Given the description of an element on the screen output the (x, y) to click on. 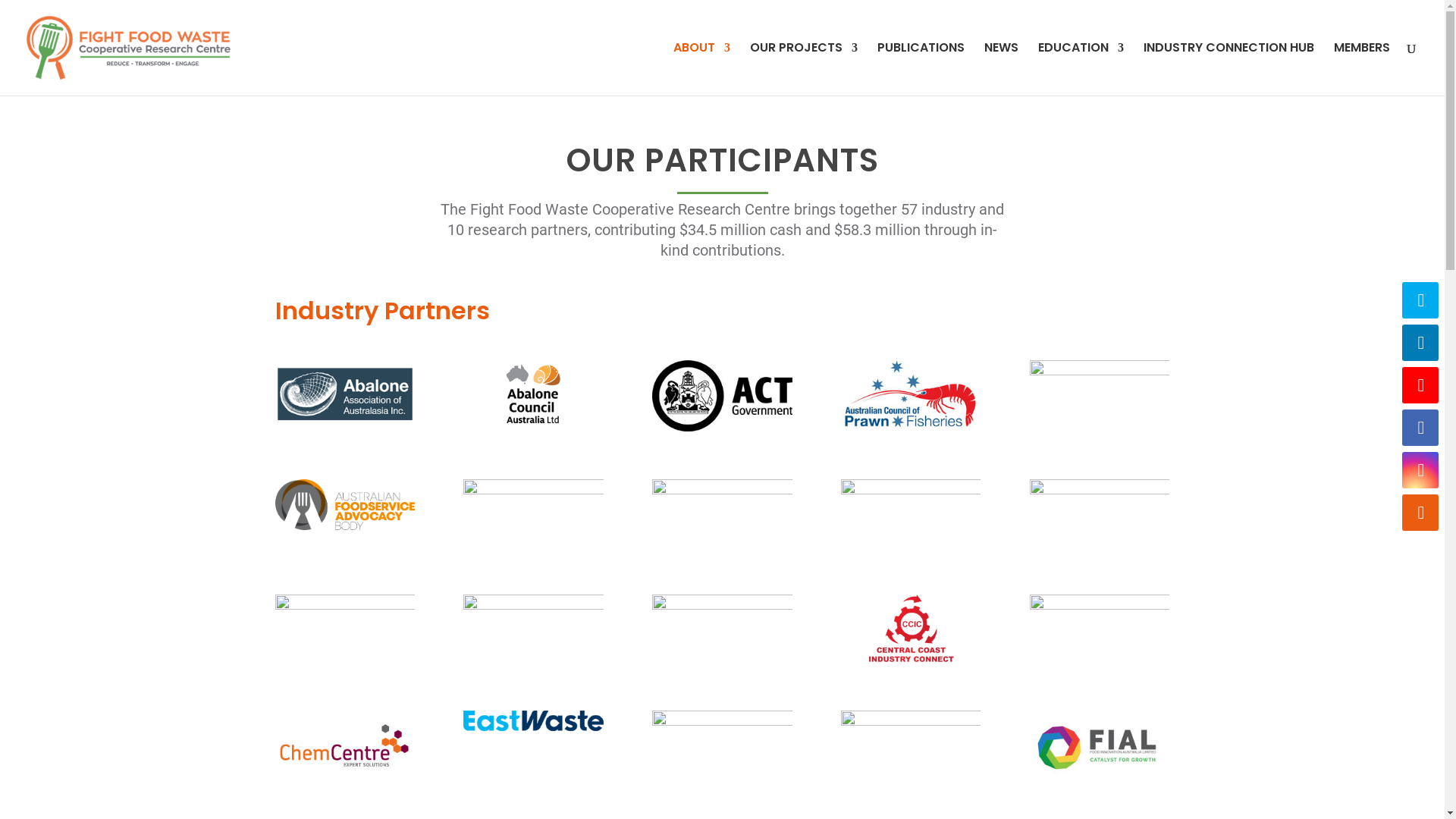
Follow on Instagram Element type: hover (1420, 469)
Follow on LinkedIn Element type: hover (1420, 342)
OUR PROJECTS Element type: text (803, 68)
ABOUT Element type: text (701, 68)
PUBLICATIONS Element type: text (920, 68)
Follow on Twitter Element type: hover (1420, 300)
EDUCATION Element type: text (1080, 68)
East Waste - web Element type: hover (532, 720)
NEWS Element type: text (1001, 68)
MEMBERS Element type: text (1361, 68)
Follow on YouTube Element type: hover (1420, 385)
Email us Element type: hover (1420, 512)
Follow on Facebook Element type: hover (1420, 427)
AFAB-logo (1) Element type: hover (344, 504)
INDUSTRY CONNECTION HUB Element type: text (1228, 68)
